Given the description of an element on the screen output the (x, y) to click on. 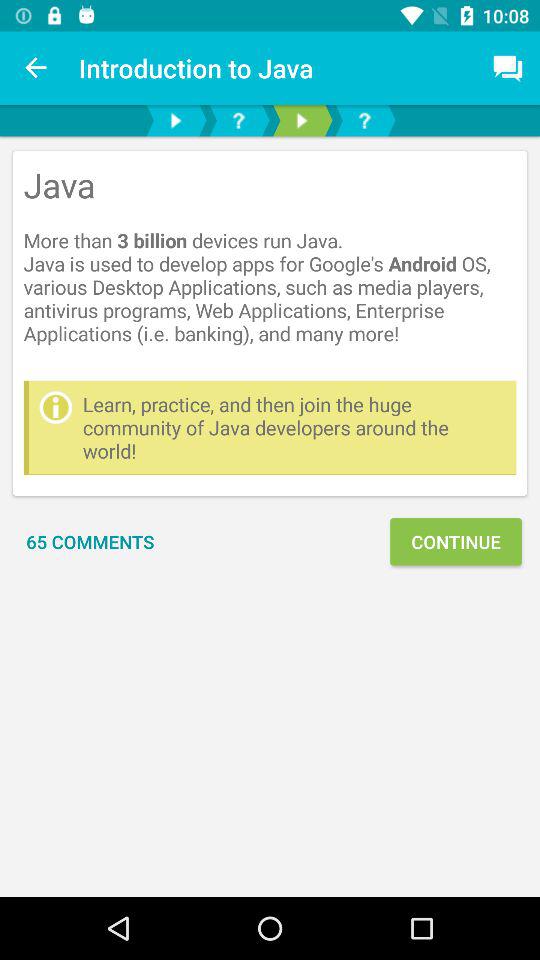
click item next to the 65 comments item (455, 541)
